Given the description of an element on the screen output the (x, y) to click on. 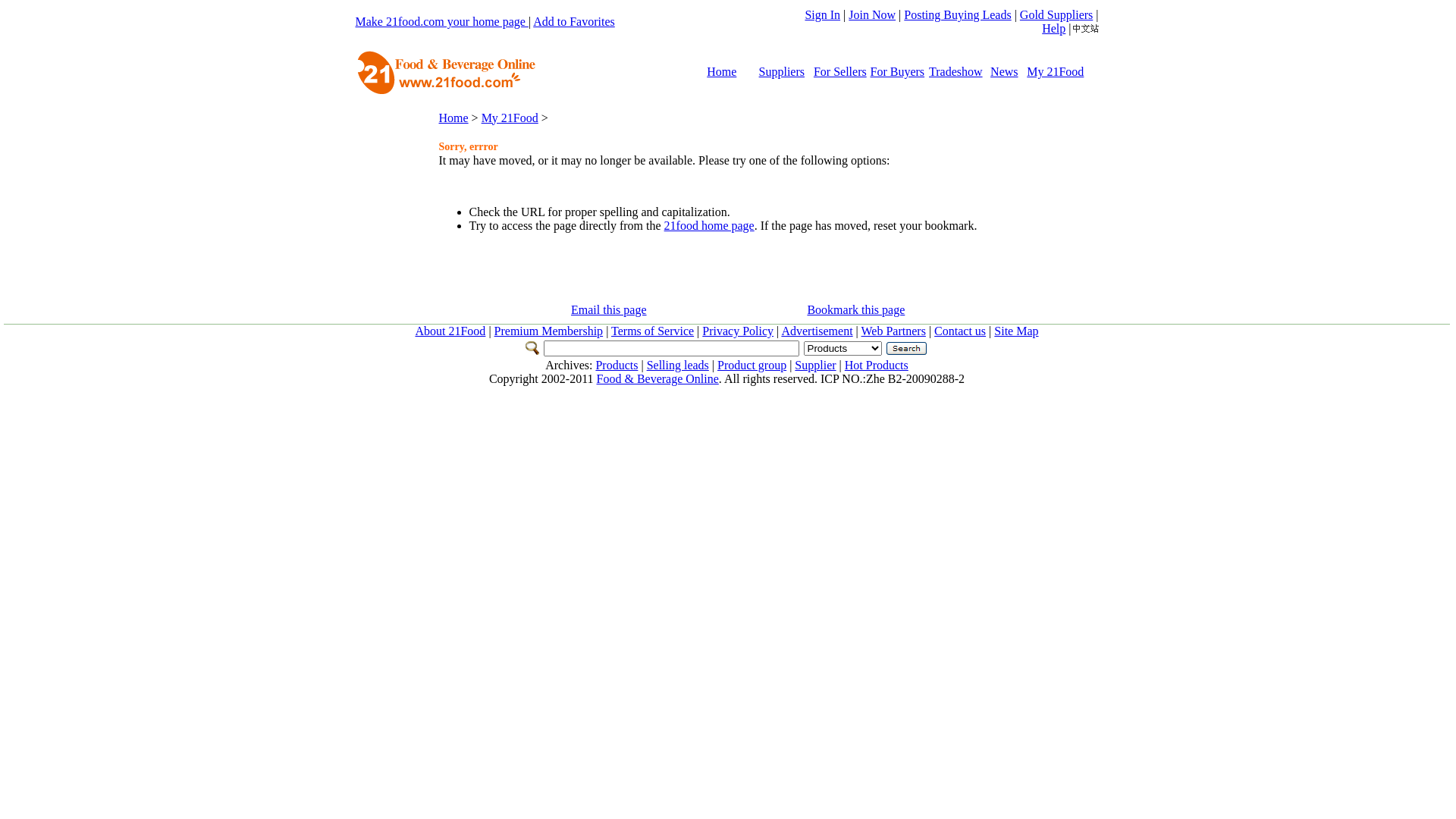
Bookmark this page Element type: text (855, 309)
Tradeshow Element type: text (955, 71)
Gold Suppliers Element type: text (1055, 14)
Hot Products Element type: text (876, 364)
Posting Buying Leads Element type: text (956, 14)
Site Map Element type: text (1016, 330)
My 21Food Element type: text (509, 116)
Help Element type: text (1053, 27)
Terms of Service Element type: text (652, 330)
21food home page Element type: text (709, 225)
Privacy Policy Element type: text (737, 330)
Products Element type: text (616, 364)
For Sellers Element type: text (839, 71)
Product group Element type: text (751, 364)
Web Partners Element type: text (893, 330)
Home Element type: text (721, 71)
Home Element type: text (452, 116)
About 21Food Element type: text (449, 330)
Sign In Element type: text (822, 14)
For Buyers Element type: text (897, 71)
My 21Food Element type: text (1054, 71)
Make 21food.com your home page Element type: text (440, 21)
Selling leads Element type: text (677, 364)
Join Now Element type: text (871, 14)
Advertisement Element type: text (816, 330)
Contact us Element type: text (959, 330)
News Element type: text (1003, 71)
Suppliers Element type: text (781, 71)
Food & Beverage Online Element type: text (657, 378)
Supplier Element type: text (814, 364)
Premium Membership Element type: text (548, 330)
Add to Favorites Element type: text (574, 21)
Email this page Element type: text (608, 309)
